Given the description of an element on the screen output the (x, y) to click on. 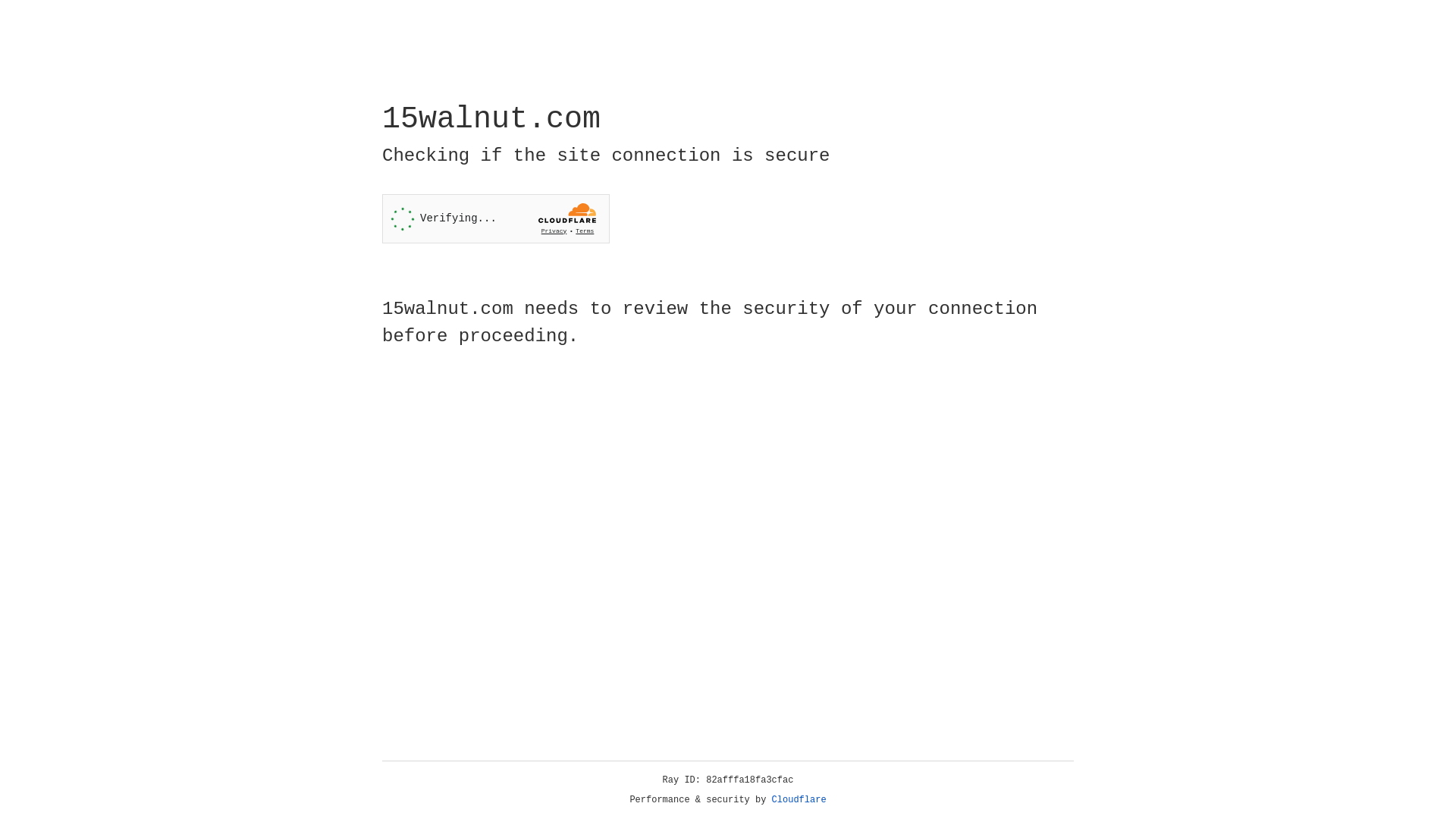
Widget containing a Cloudflare security challenge Element type: hover (495, 218)
Cloudflare Element type: text (798, 799)
